Given the description of an element on the screen output the (x, y) to click on. 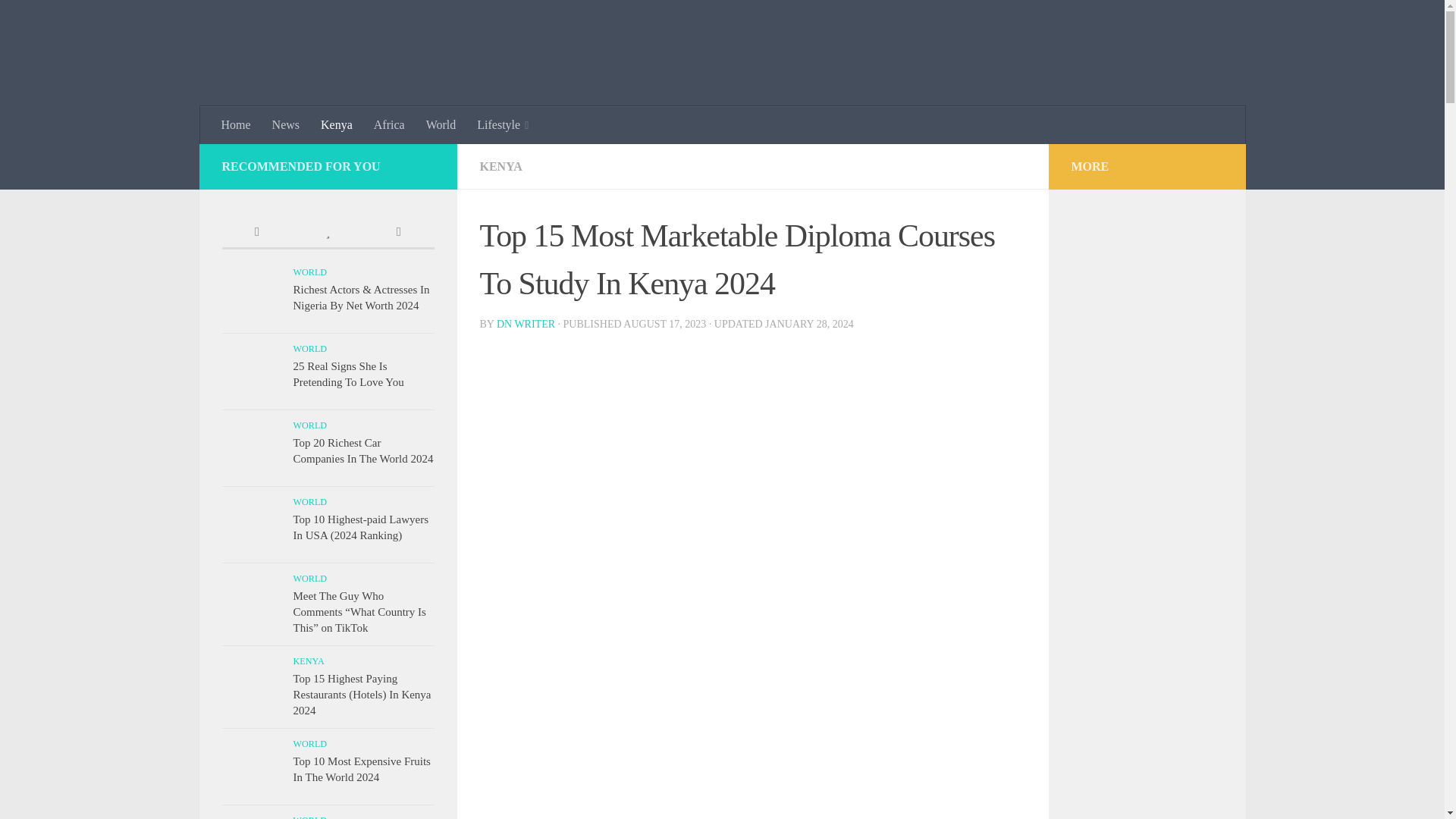
World (440, 125)
Lifestyle (501, 125)
Skip to content (59, 20)
DN WRITER (525, 324)
News (286, 125)
Home (236, 125)
Africa (388, 125)
Posts by DN Writer (525, 324)
KENYA (500, 165)
Kenya (336, 125)
